Given the description of an element on the screen output the (x, y) to click on. 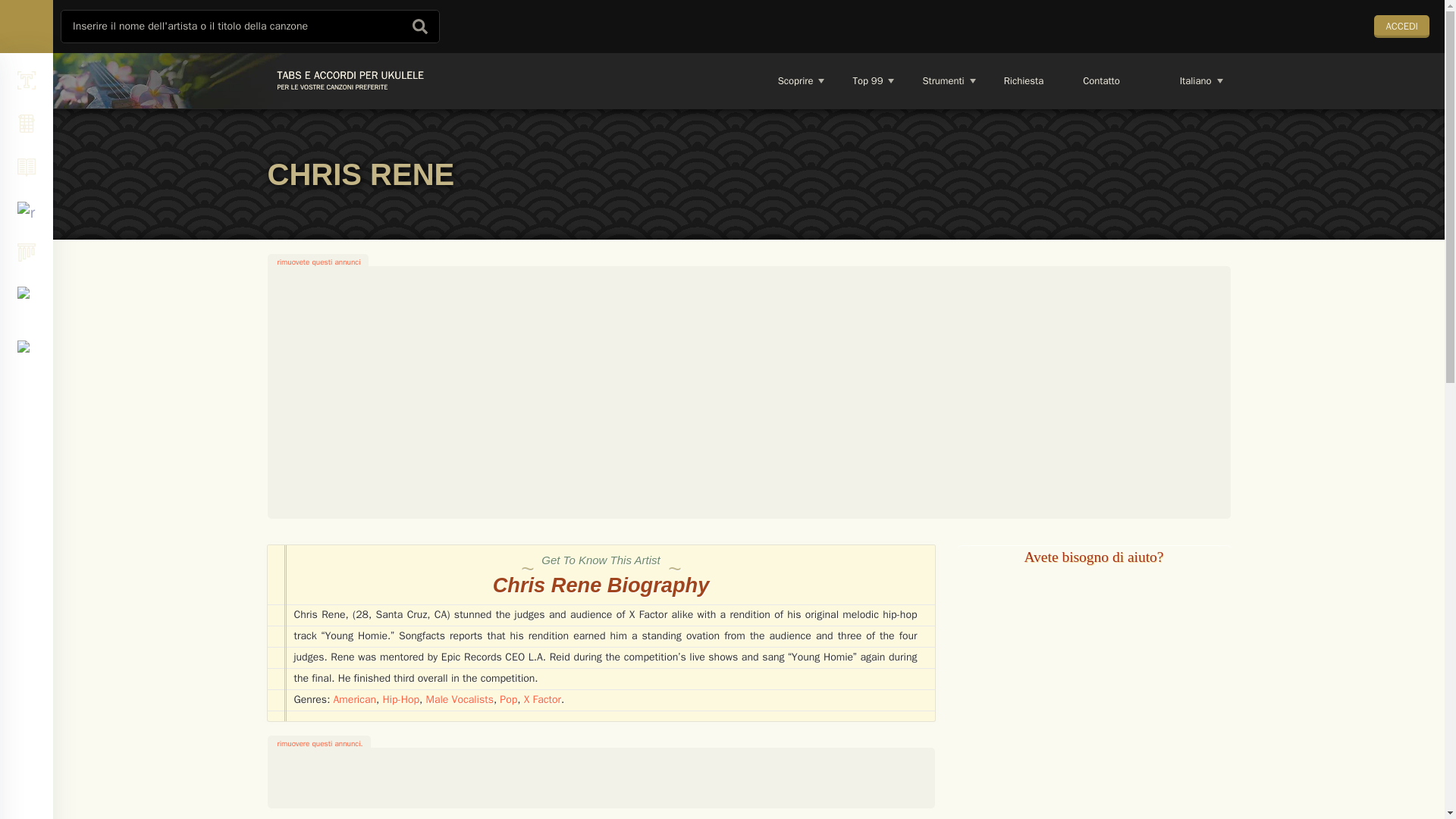
Top 99 canzoni su UkuTabs (866, 80)
ACCEDI (1401, 26)
Top 99 (866, 80)
scoprire le canzoni per ukulele (794, 80)
Scoprire (794, 80)
strumenti per ukulele (344, 80)
Vai al contenuto (941, 80)
